Given the description of an element on the screen output the (x, y) to click on. 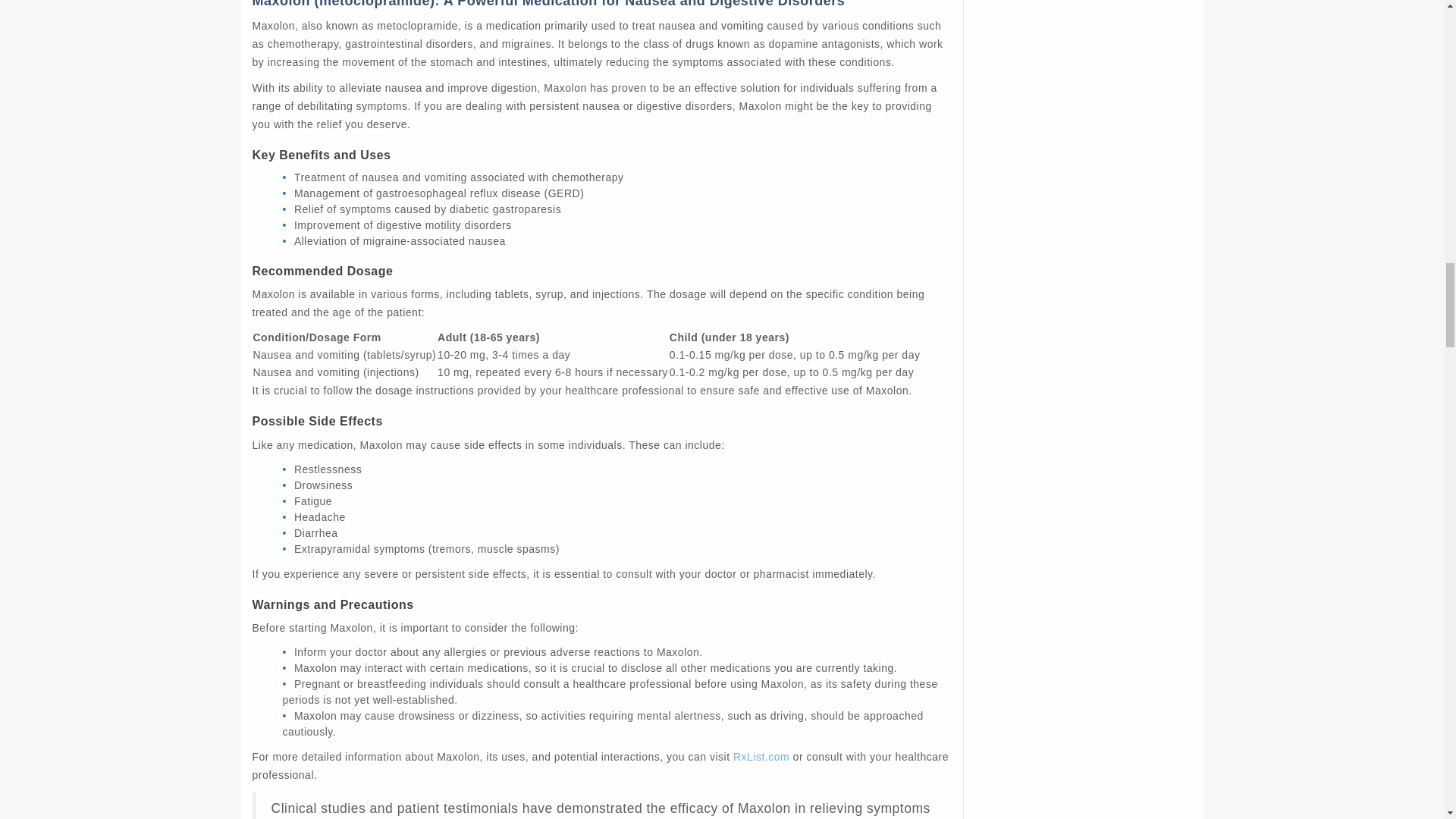
RxList.com (761, 756)
